Given the description of an element on the screen output the (x, y) to click on. 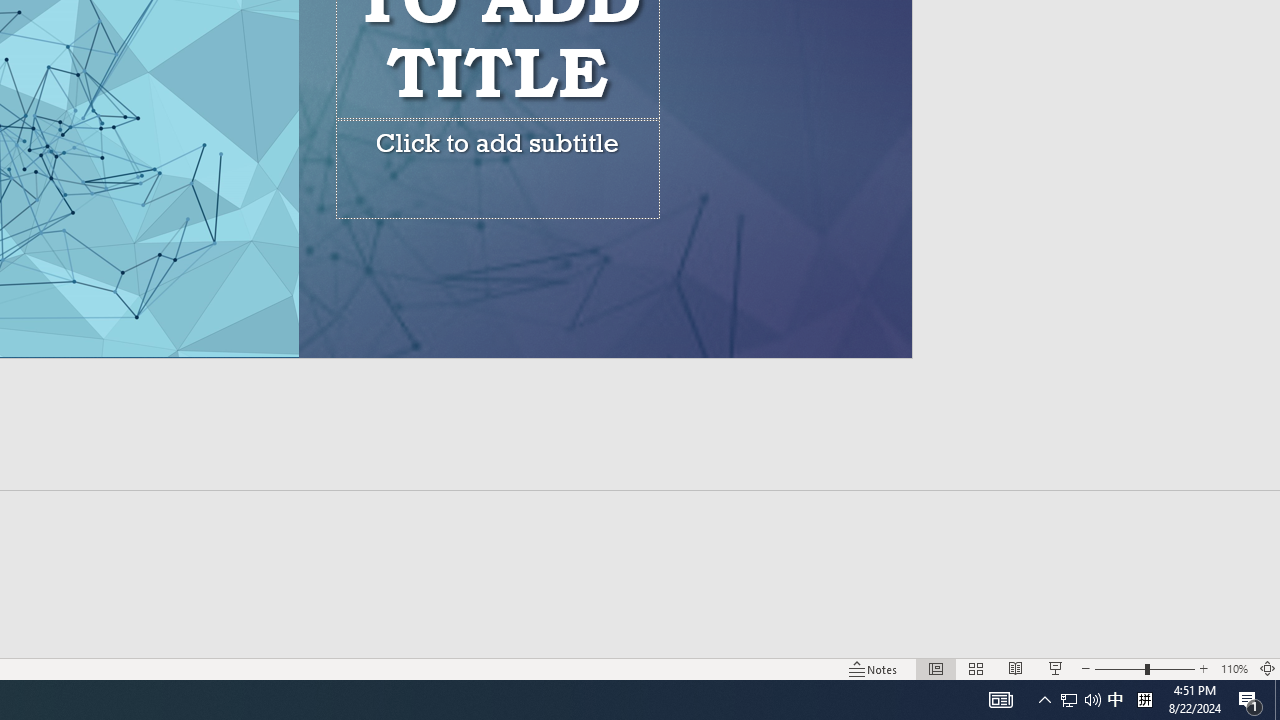
Zoom 110% (1234, 668)
